Given the description of an element on the screen output the (x, y) to click on. 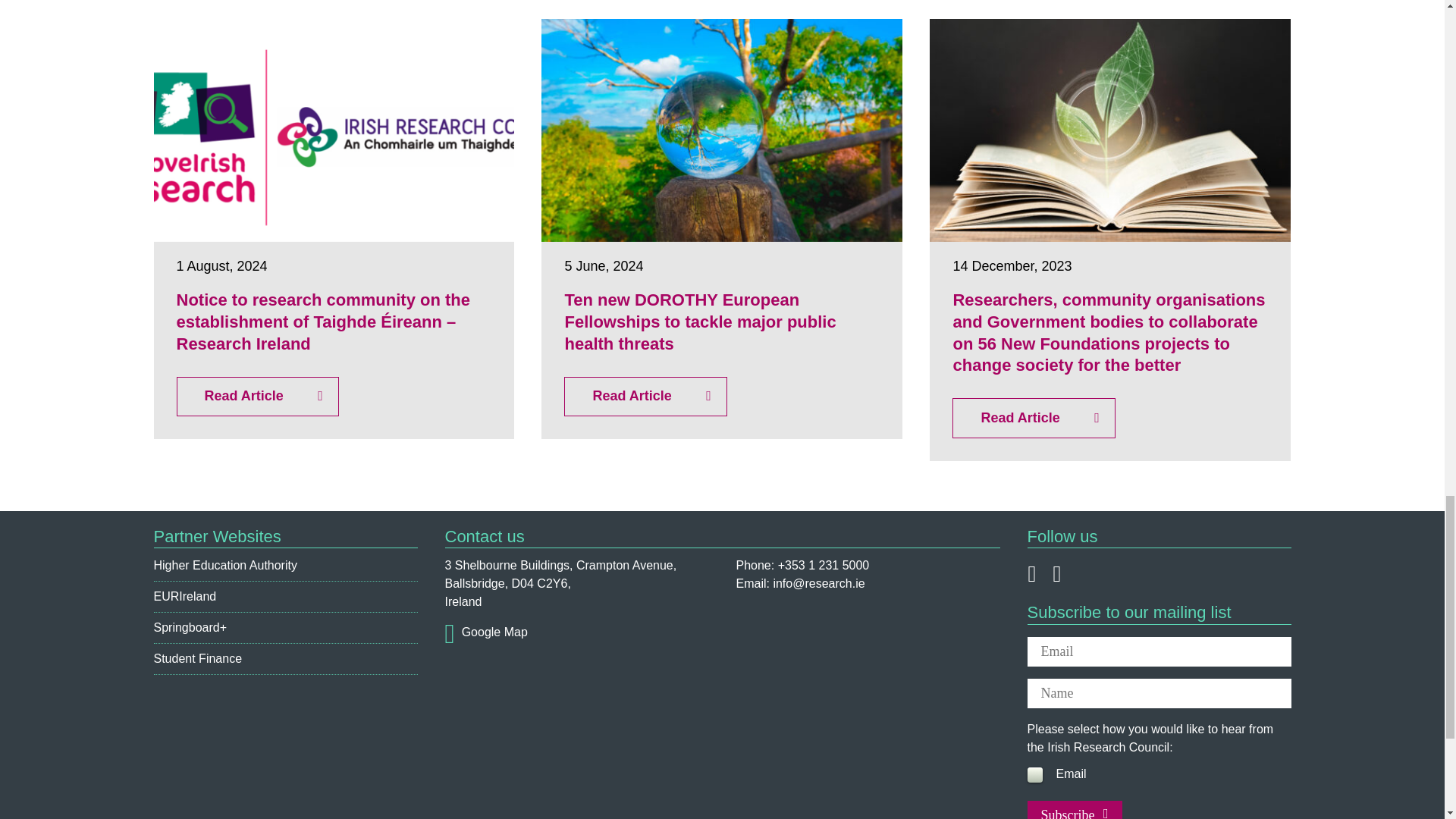
Read Article (256, 396)
Read Article (645, 396)
Read Article (1033, 417)
